Given the description of an element on the screen output the (x, y) to click on. 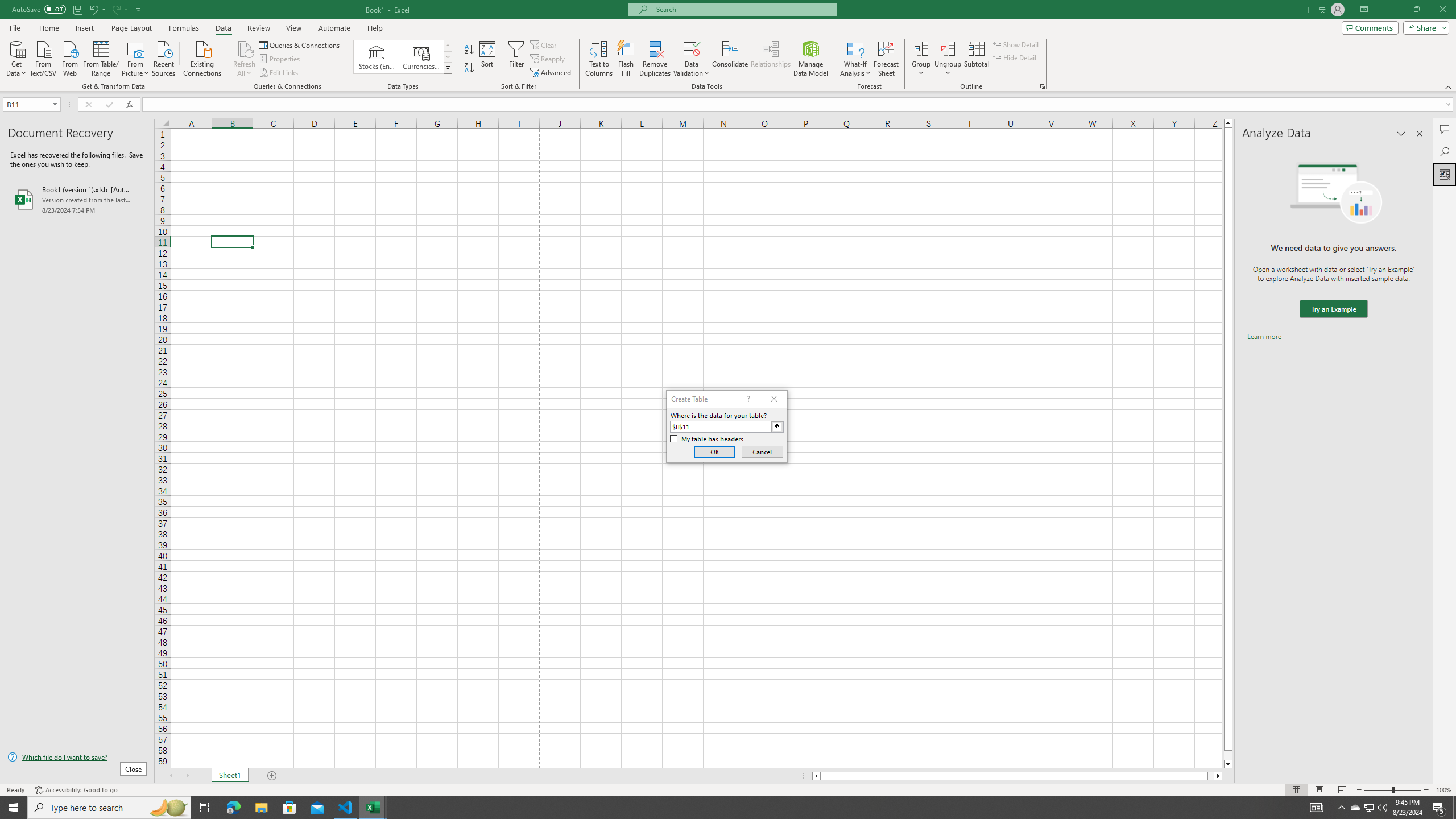
Row up (448, 45)
Name Box (27, 104)
Share (1423, 27)
Customize Quick Access Toolbar (139, 9)
Open (54, 104)
Formulas (184, 28)
Page Layout (1318, 790)
Which file do I want to save? (77, 757)
Save (77, 9)
Add Sheet (272, 775)
Page down (1228, 755)
Refresh All (244, 58)
Data Validation... (691, 48)
Get Data (16, 57)
Comments (1444, 128)
